Given the description of an element on the screen output the (x, y) to click on. 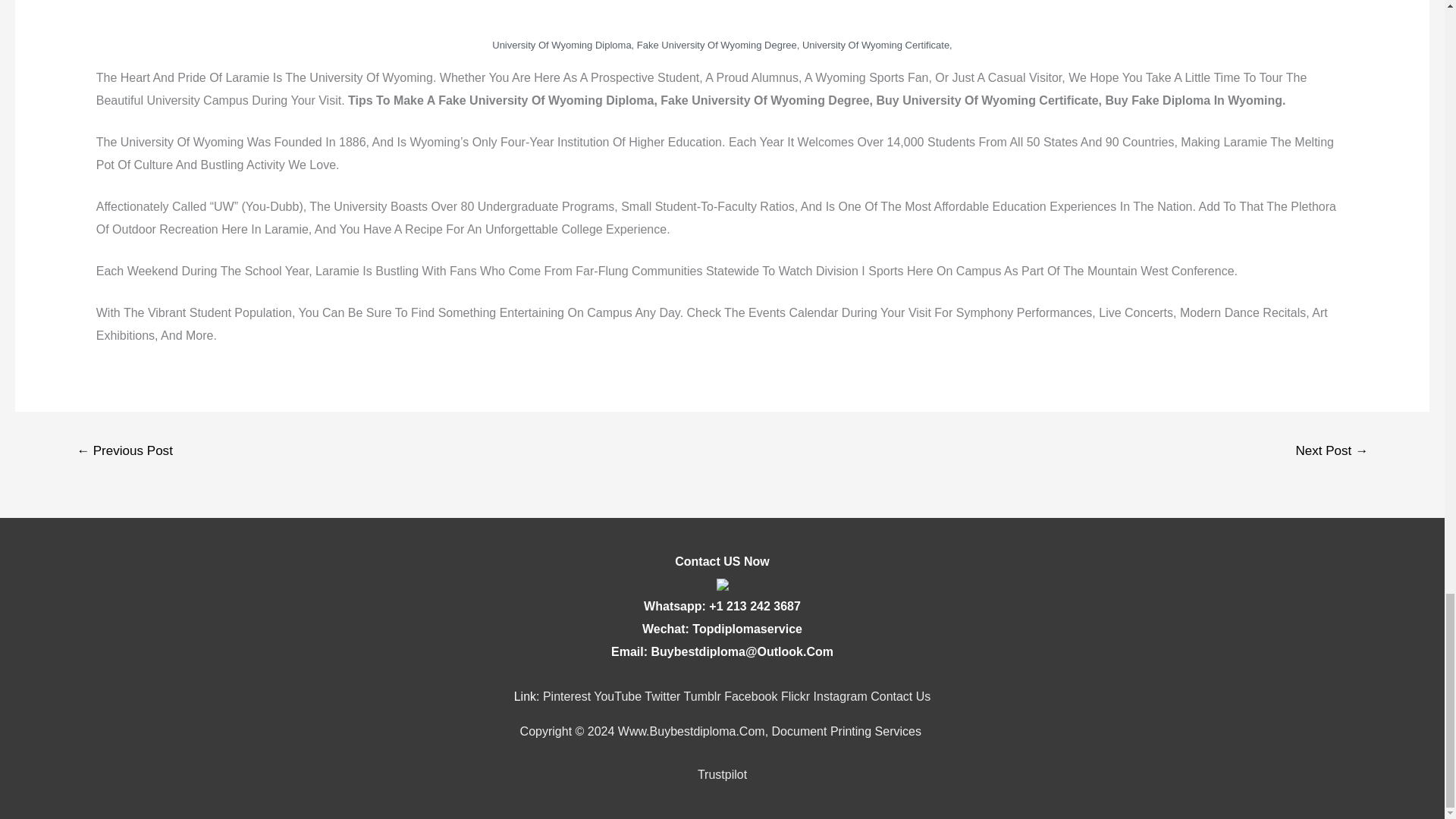
Facebook (750, 696)
Twitter (662, 696)
Tumblr (702, 696)
YouTube (618, 696)
Pinterest (567, 696)
